Given the description of an element on the screen output the (x, y) to click on. 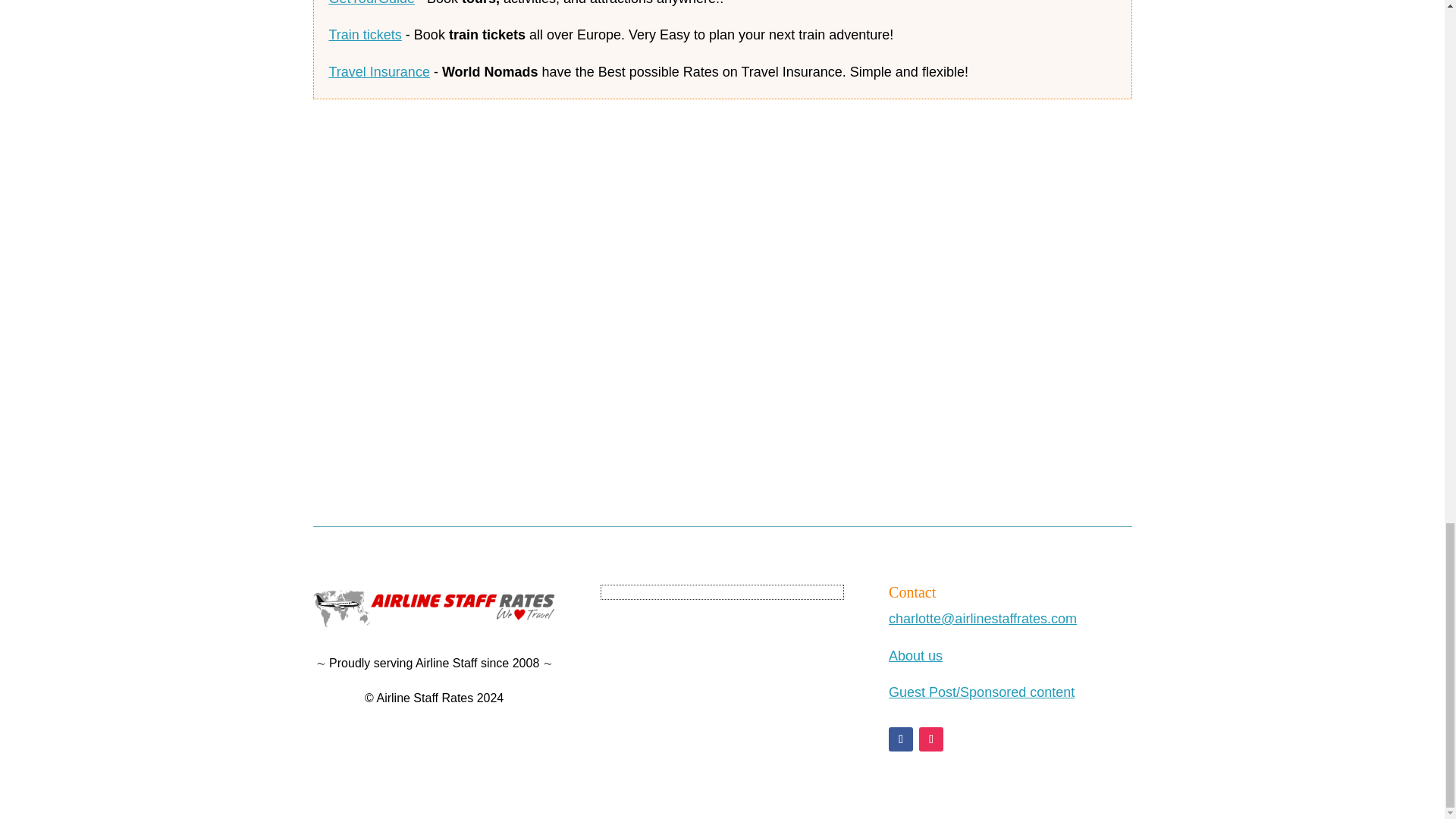
About us (915, 655)
Follow on Instagram (930, 738)
Train tickets (365, 34)
GetYourGuide (371, 2)
Travel Insurance (379, 71)
Follow on Facebook (900, 738)
